Given the description of an element on the screen output the (x, y) to click on. 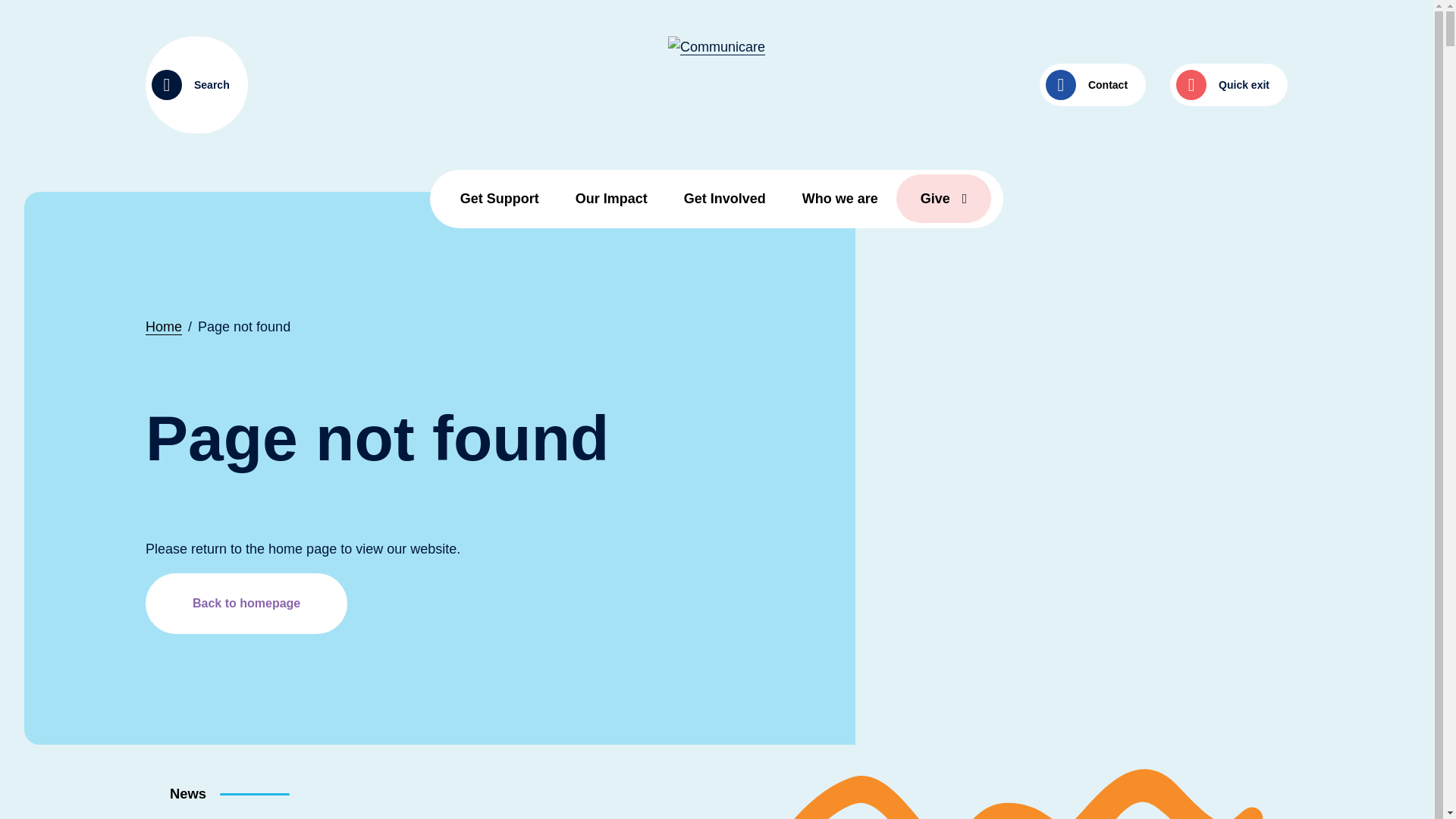
Home Element type: text (163, 326)
Who we are Element type: text (840, 198)
Get Involved Element type: text (724, 198)
Our Impact Element type: text (611, 198)
Contact Element type: text (1092, 84)
Back to homepage Element type: text (246, 603)
Quick exit Element type: text (1228, 84)
Get Support Element type: text (499, 198)
Search Element type: text (196, 84)
Give Element type: text (943, 198)
